Given the description of an element on the screen output the (x, y) to click on. 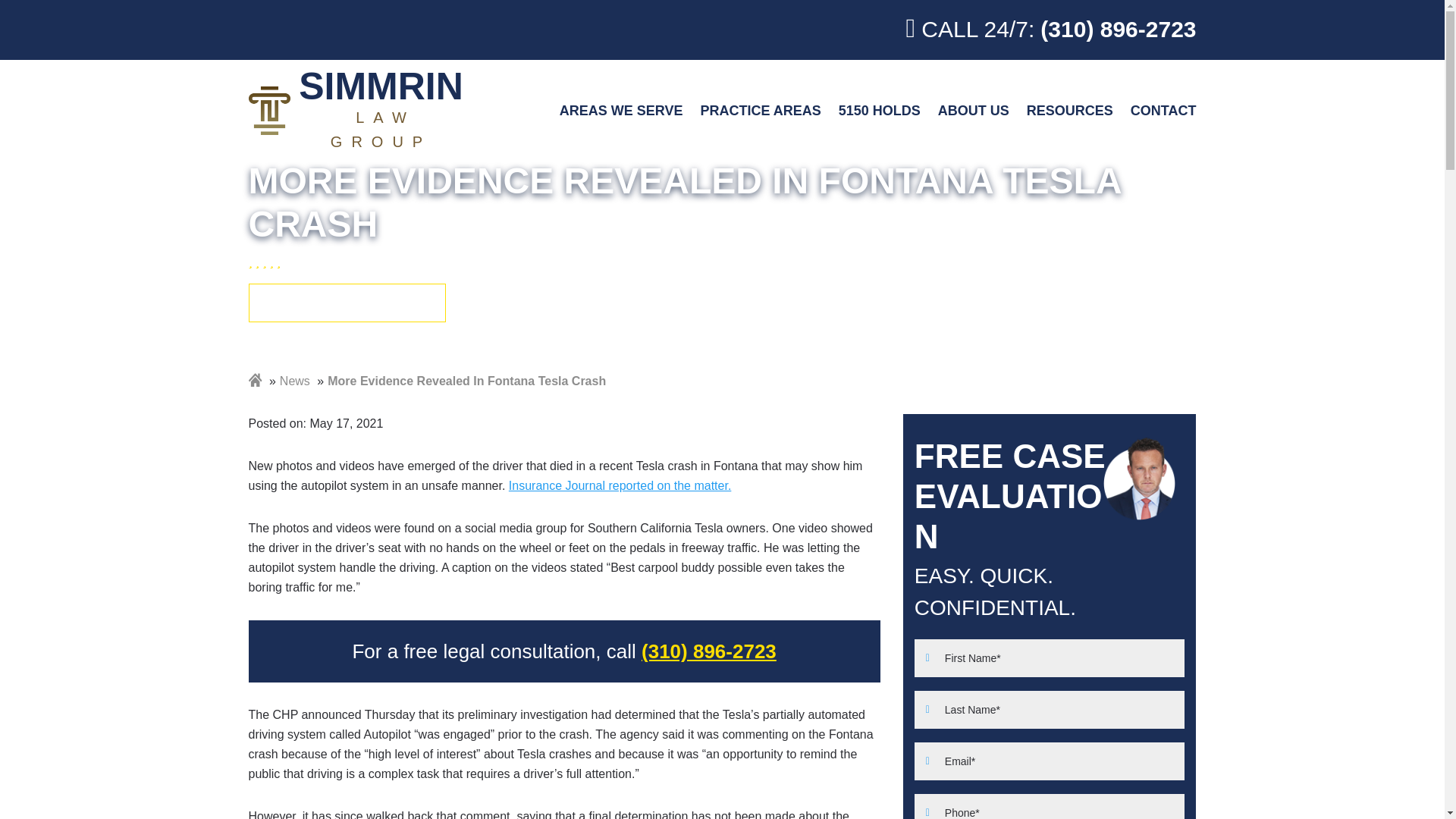
AREAS WE SERVE (358, 110)
Mike (620, 110)
Simmrin Law (1138, 478)
phone (358, 110)
